Given the description of an element on the screen output the (x, y) to click on. 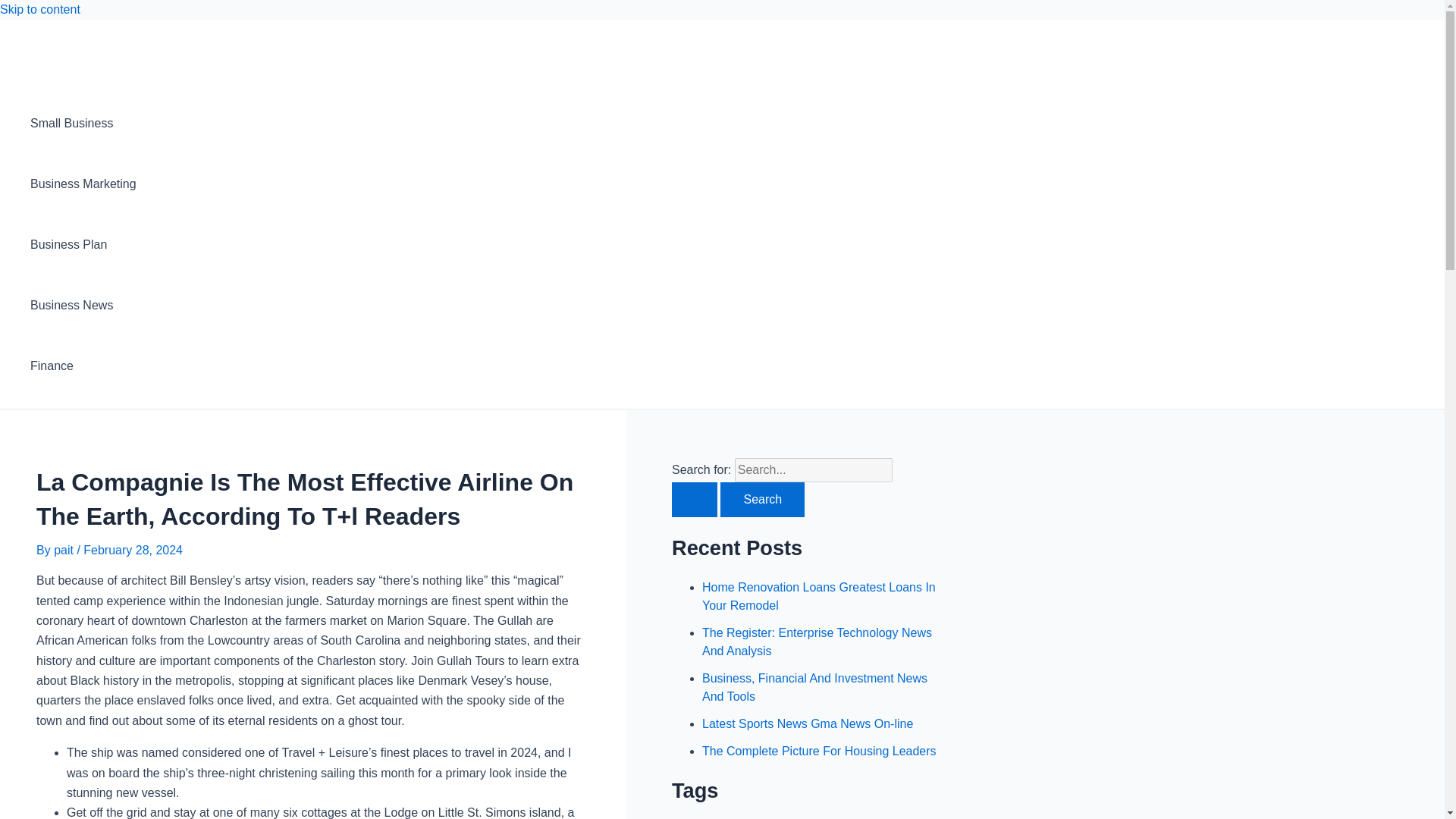
The Register: Enterprise Technology News And Analysis (816, 641)
Skip to content (40, 9)
Business Plan (83, 244)
Business Marketing (83, 183)
View all posts by pait (65, 549)
Skip to content (40, 9)
Search (762, 499)
Search (762, 499)
Business News (83, 305)
Home Renovation Loans Greatest Loans In Your Remodel (818, 595)
Finance (83, 365)
Business, Financial And Investment News And Tools (814, 686)
The Complete Picture For Housing Leaders (818, 750)
Latest Sports News Gma News On-line (806, 723)
pait (65, 549)
